Given the description of an element on the screen output the (x, y) to click on. 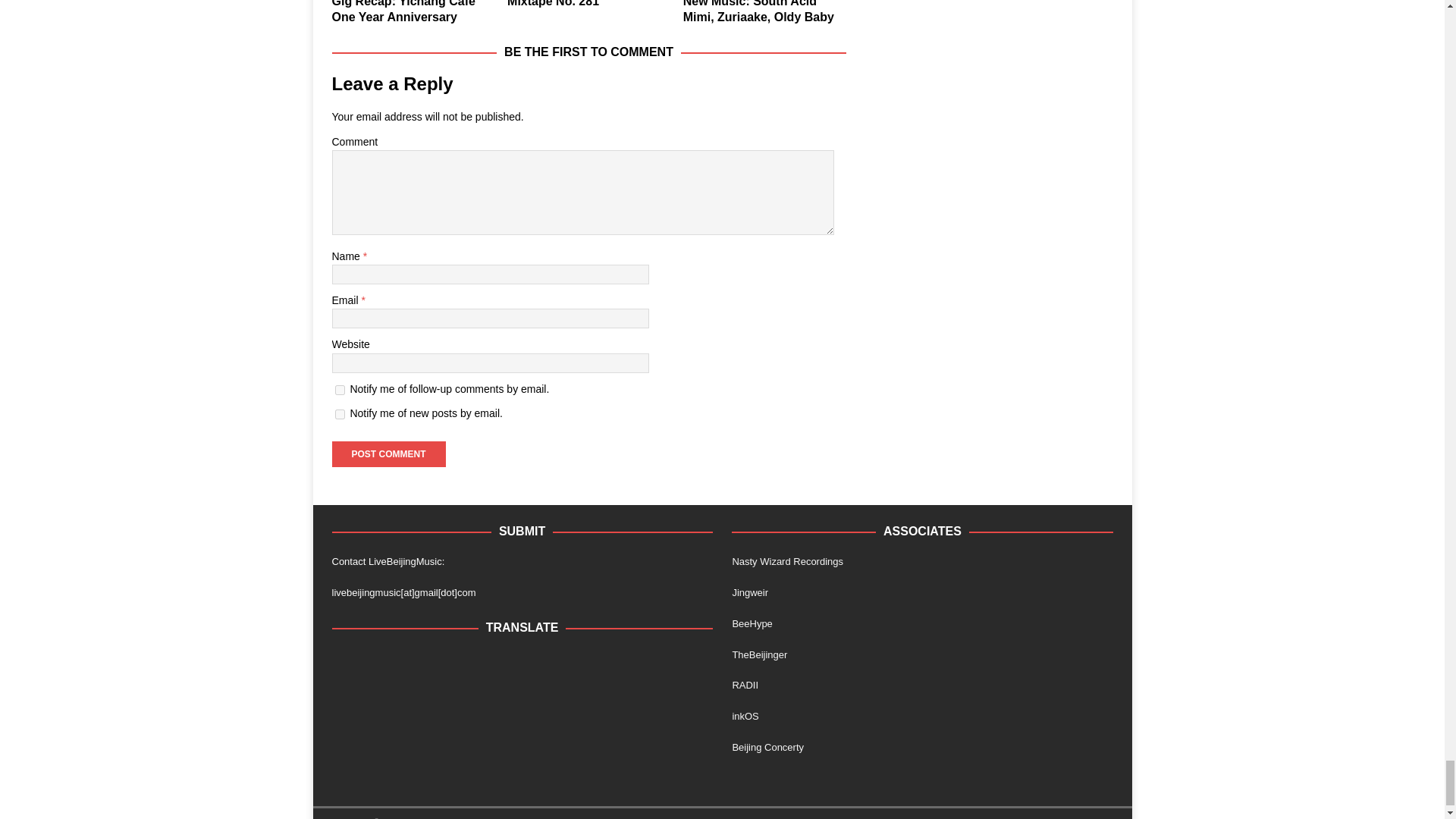
Mixtape No. 281 (552, 3)
Post Comment (388, 453)
subscribe (339, 389)
New Music: South Acid Mimi, Zuriaake, Oldy Baby (758, 11)
Gig Recap: Yichang Cafe One Year Anniversary (403, 11)
subscribe (339, 414)
